Given the description of an element on the screen output the (x, y) to click on. 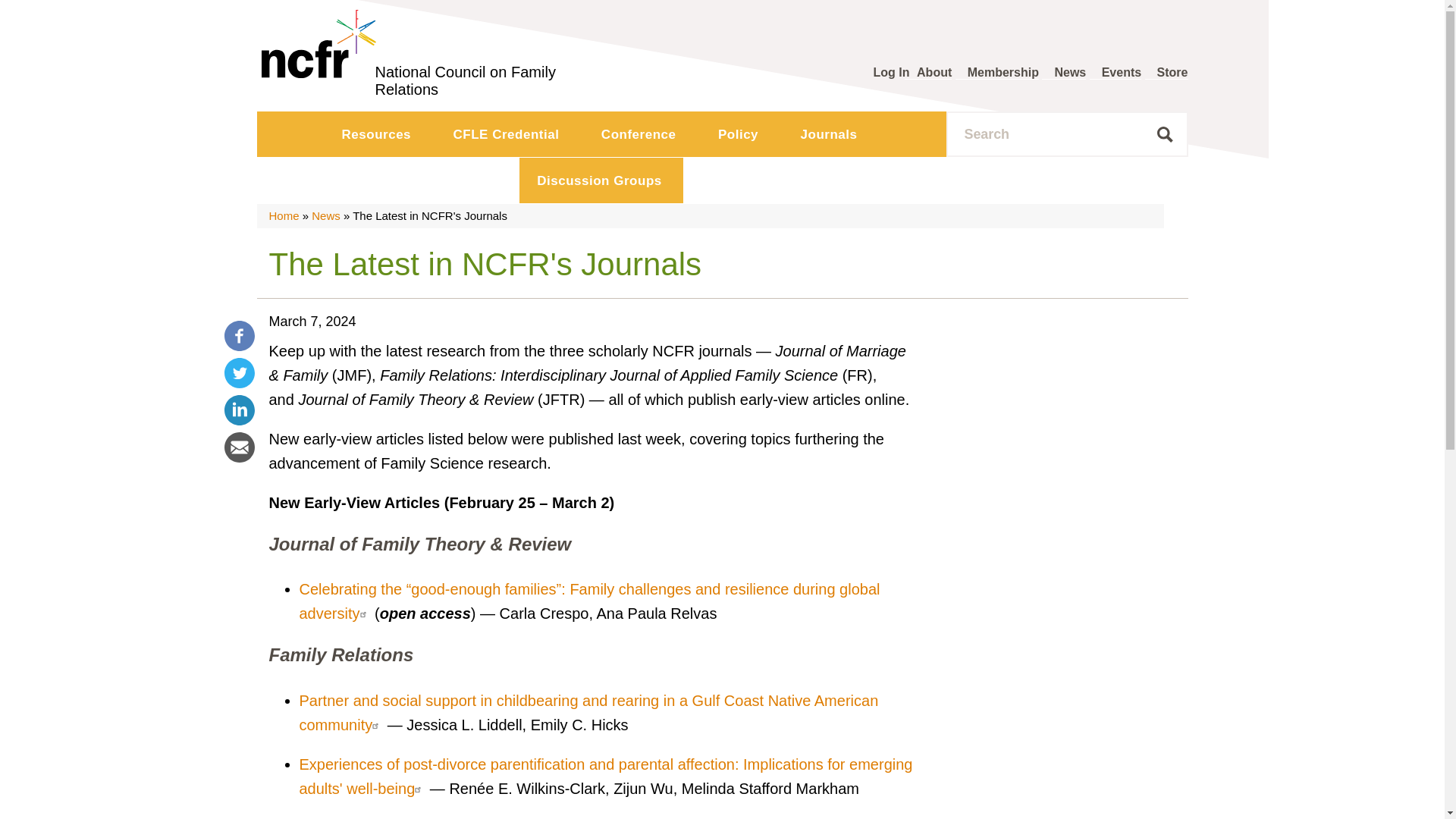
Resources (378, 134)
CFLE Credential (507, 134)
Log in (891, 72)
CFLE Credential (507, 134)
News (1064, 72)
Membership (997, 72)
About (928, 72)
Events (1115, 72)
Membership (997, 72)
Policy (739, 134)
Journals (831, 134)
Events (1115, 72)
Log In (891, 72)
Store (1166, 72)
